Given the description of an element on the screen output the (x, y) to click on. 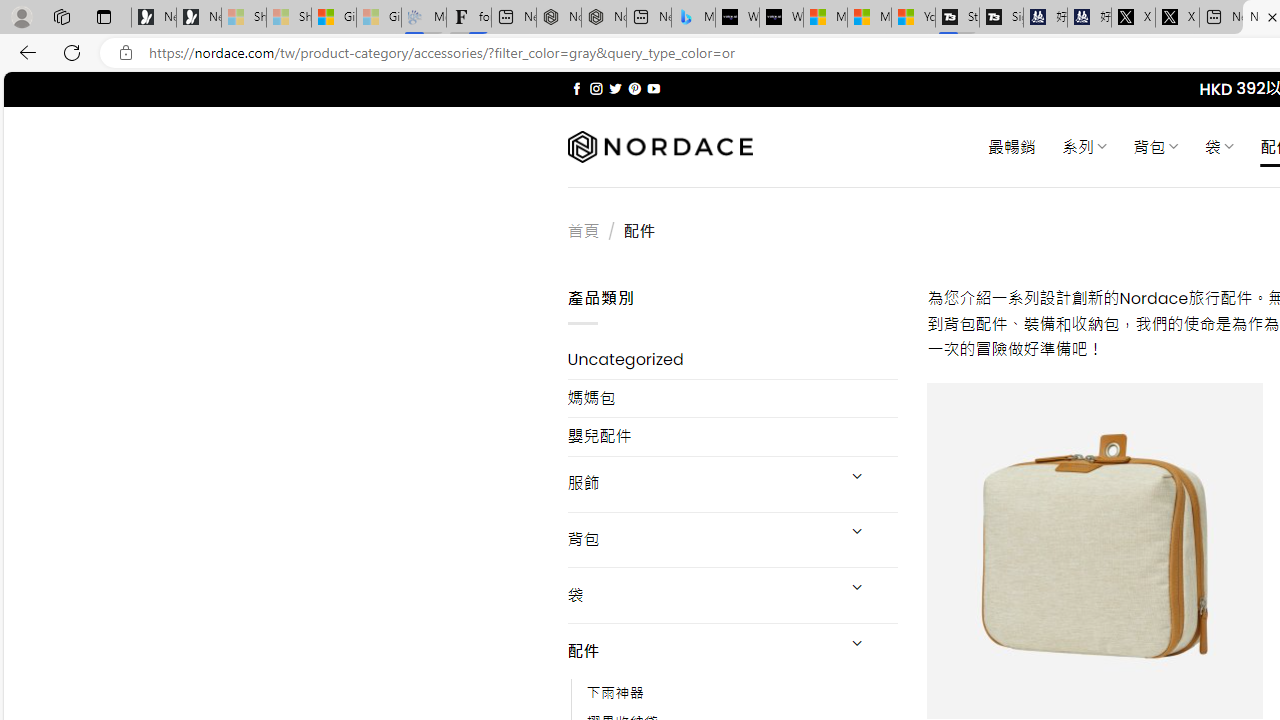
Microsoft Start Sports (825, 17)
Nordace - #1 Japanese Best-Seller - Siena Smart Backpack (603, 17)
Uncategorized (732, 359)
What's the best AI voice generator? - voice.ai (781, 17)
Follow on Pinterest (634, 88)
Follow on Facebook (576, 88)
